Given the description of an element on the screen output the (x, y) to click on. 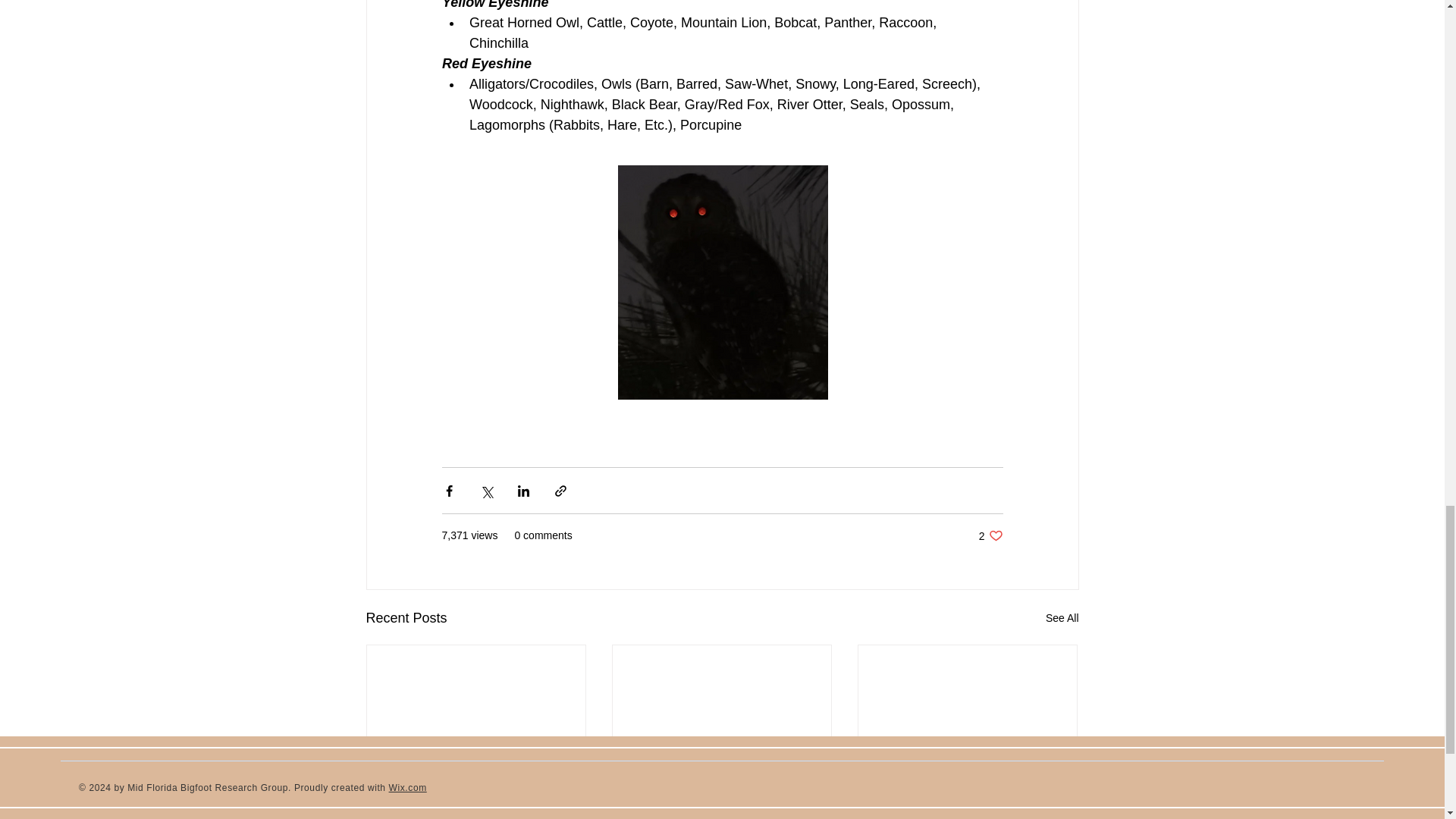
Staying Hydrated in Florida in the Summer (721, 802)
Huckleberries in Florida (990, 535)
What is eDNA? (476, 794)
See All (967, 794)
